Given the description of an element on the screen output the (x, y) to click on. 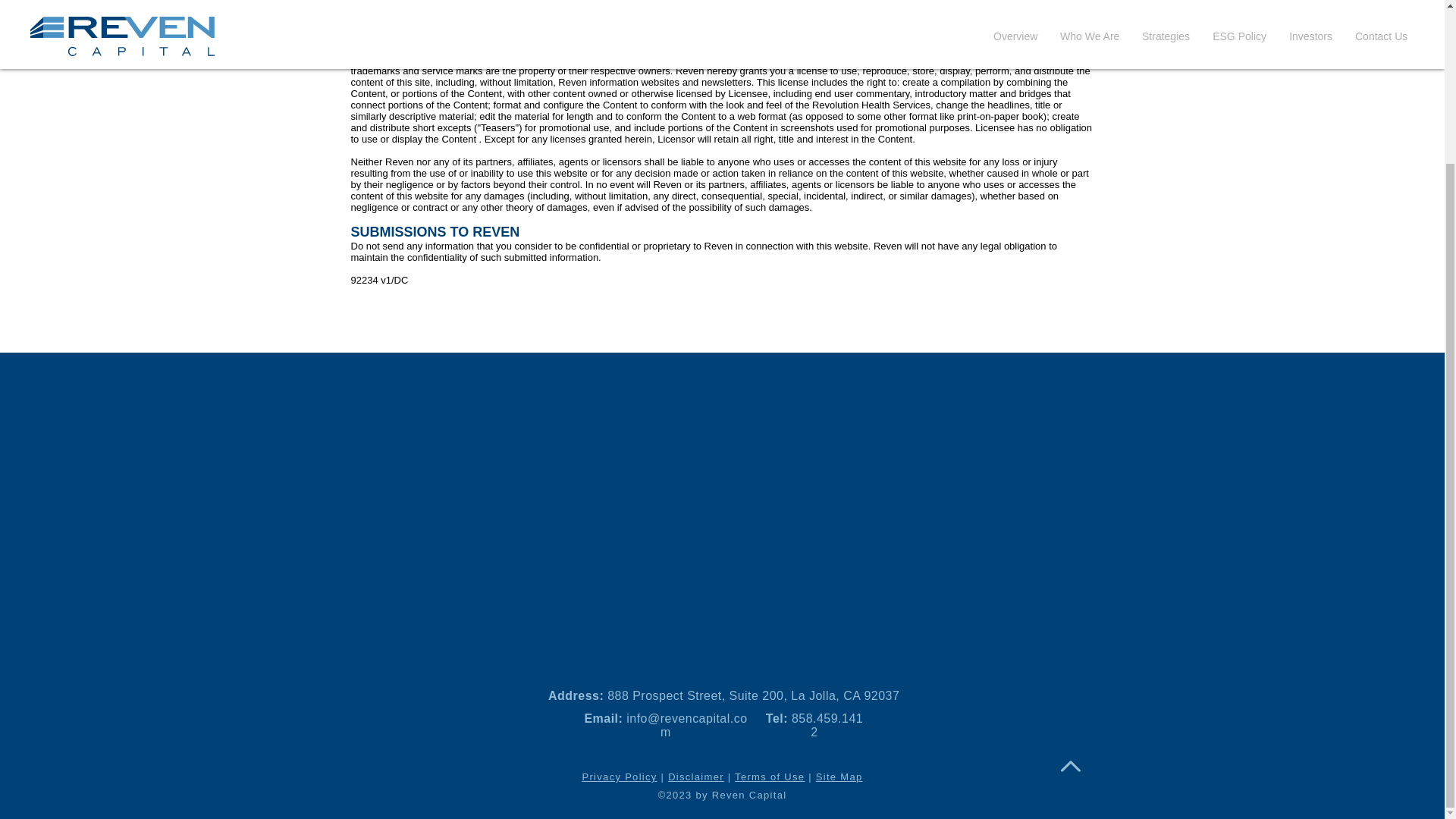
Disclaimer (695, 776)
Site Map (839, 776)
Terms of Use (770, 776)
Privacy Policy (620, 776)
